Given the description of an element on the screen output the (x, y) to click on. 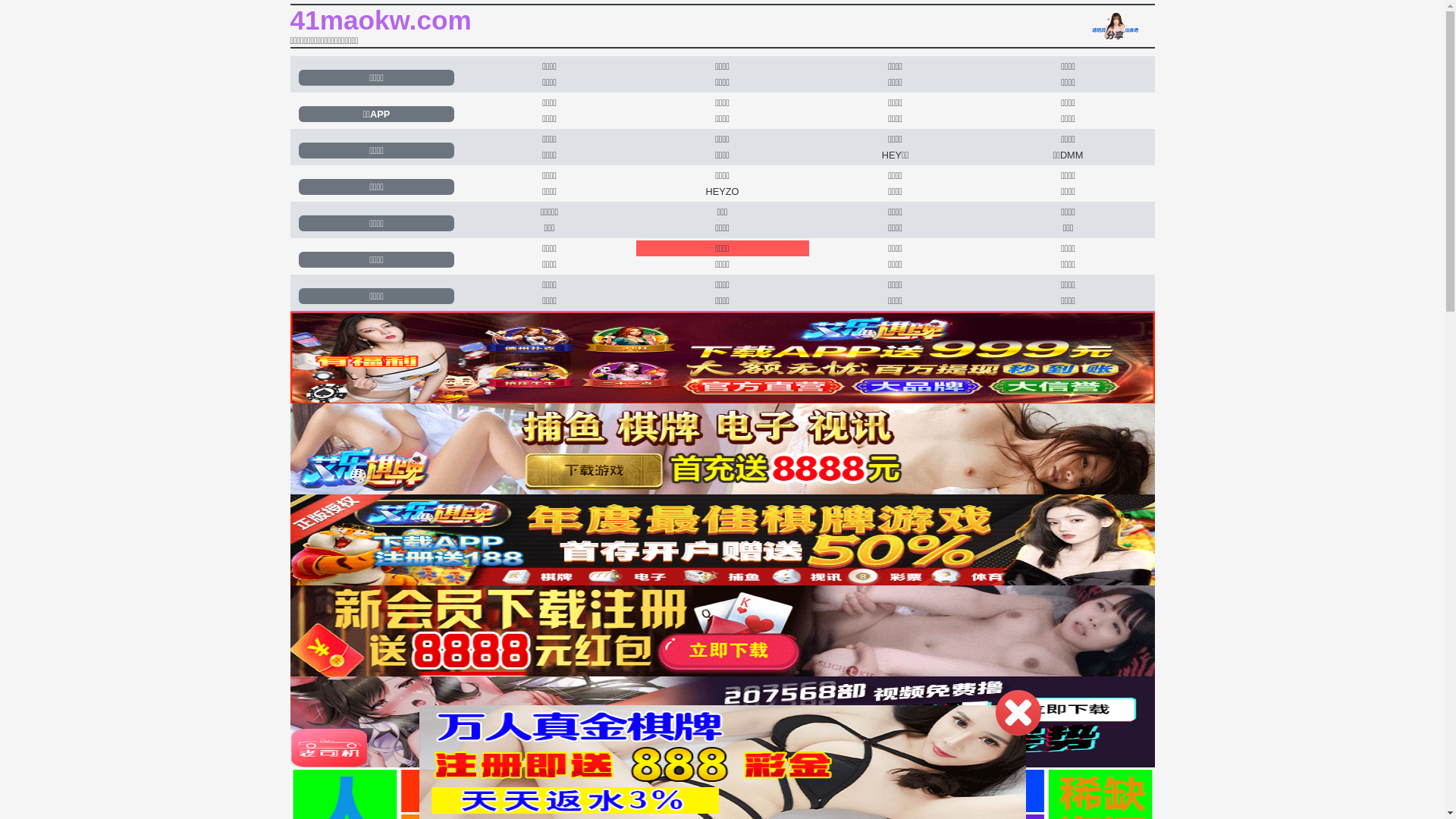
HEYZO Element type: text (722, 191)
